Given the description of an element on the screen output the (x, y) to click on. 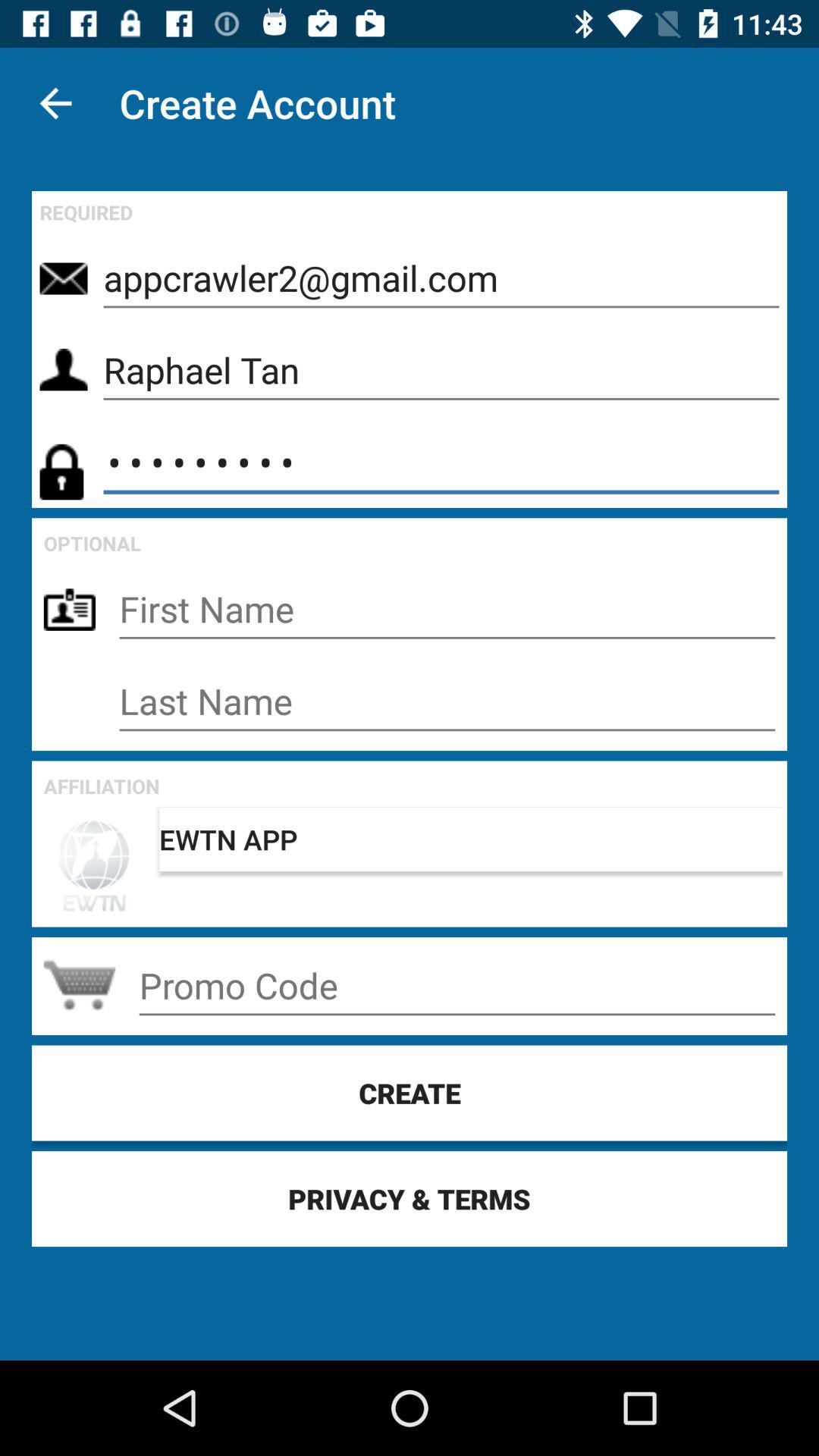
input a promo code (457, 986)
